Given the description of an element on the screen output the (x, y) to click on. 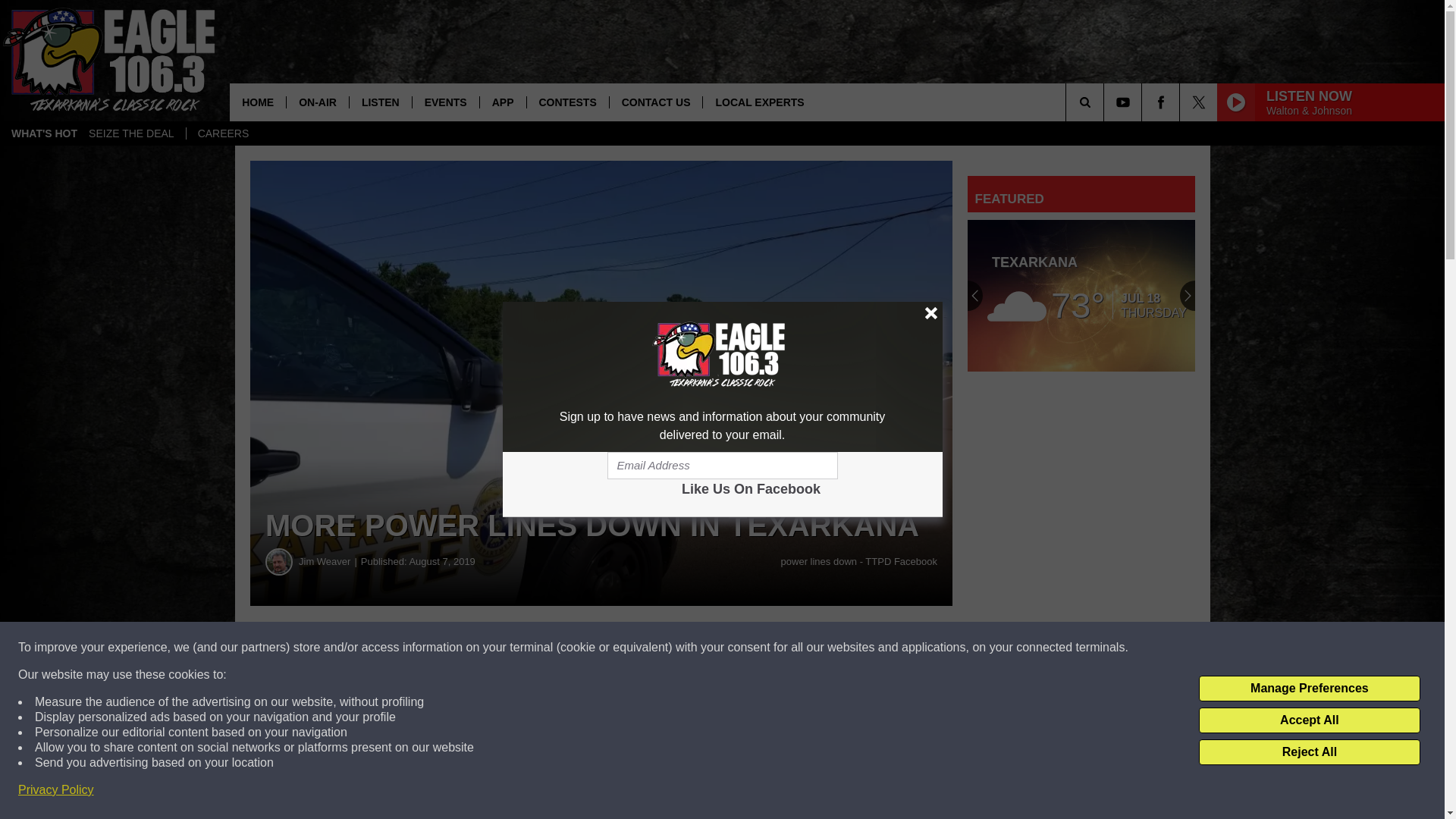
SEIZE THE DEAL (131, 133)
ON-AIR (317, 102)
LOCAL EXPERTS (758, 102)
Share on Twitter (741, 647)
Accept All (1309, 720)
CONTACT US (655, 102)
CONTESTS (566, 102)
CAREERS (223, 133)
Privacy Policy (55, 789)
Email Address (722, 465)
APP (502, 102)
Share on Facebook (460, 647)
SEARCH (1106, 102)
LISTEN (380, 102)
SEARCH (1106, 102)
